Given the description of an element on the screen output the (x, y) to click on. 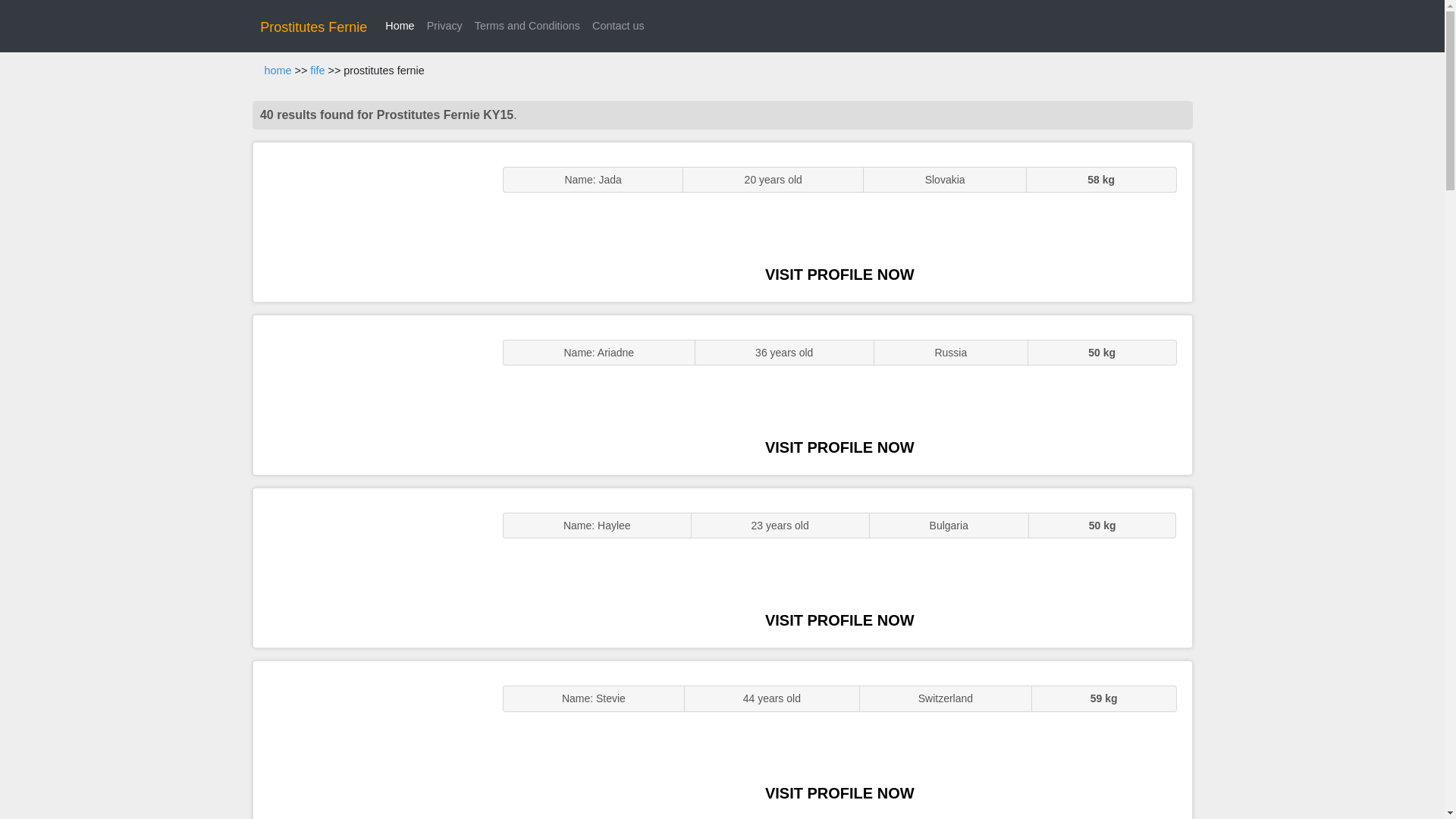
Sexy (370, 567)
VISIT PROFILE NOW (839, 274)
home (277, 70)
VISIT PROFILE NOW (839, 792)
fife (317, 70)
 ENGLISH STUNNER (370, 222)
Sluts (370, 739)
Terms and Conditions (527, 25)
VISIT PROFILE NOW (839, 619)
Prostitutes Fernie (313, 27)
